Given the description of an element on the screen output the (x, y) to click on. 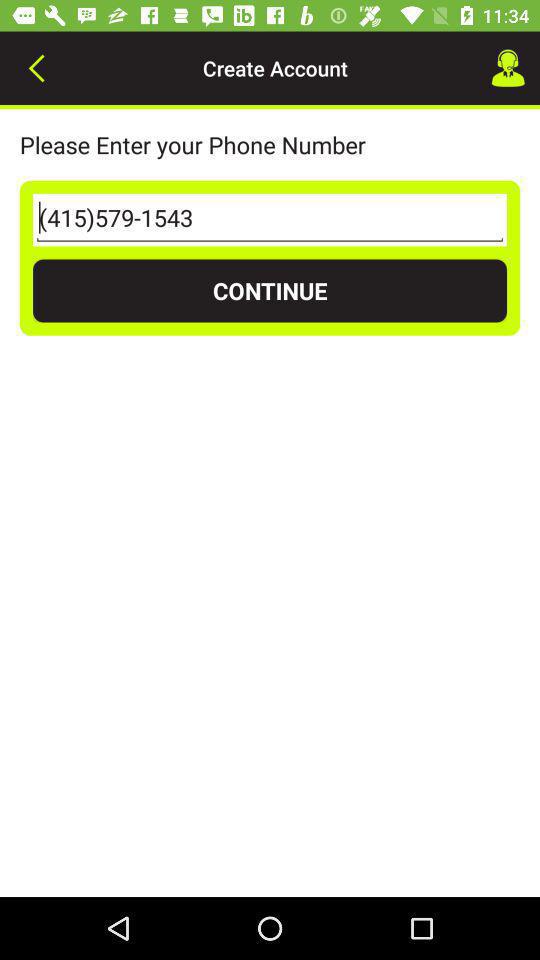
select icon below (415)579-1543 (270, 290)
